Given the description of an element on the screen output the (x, y) to click on. 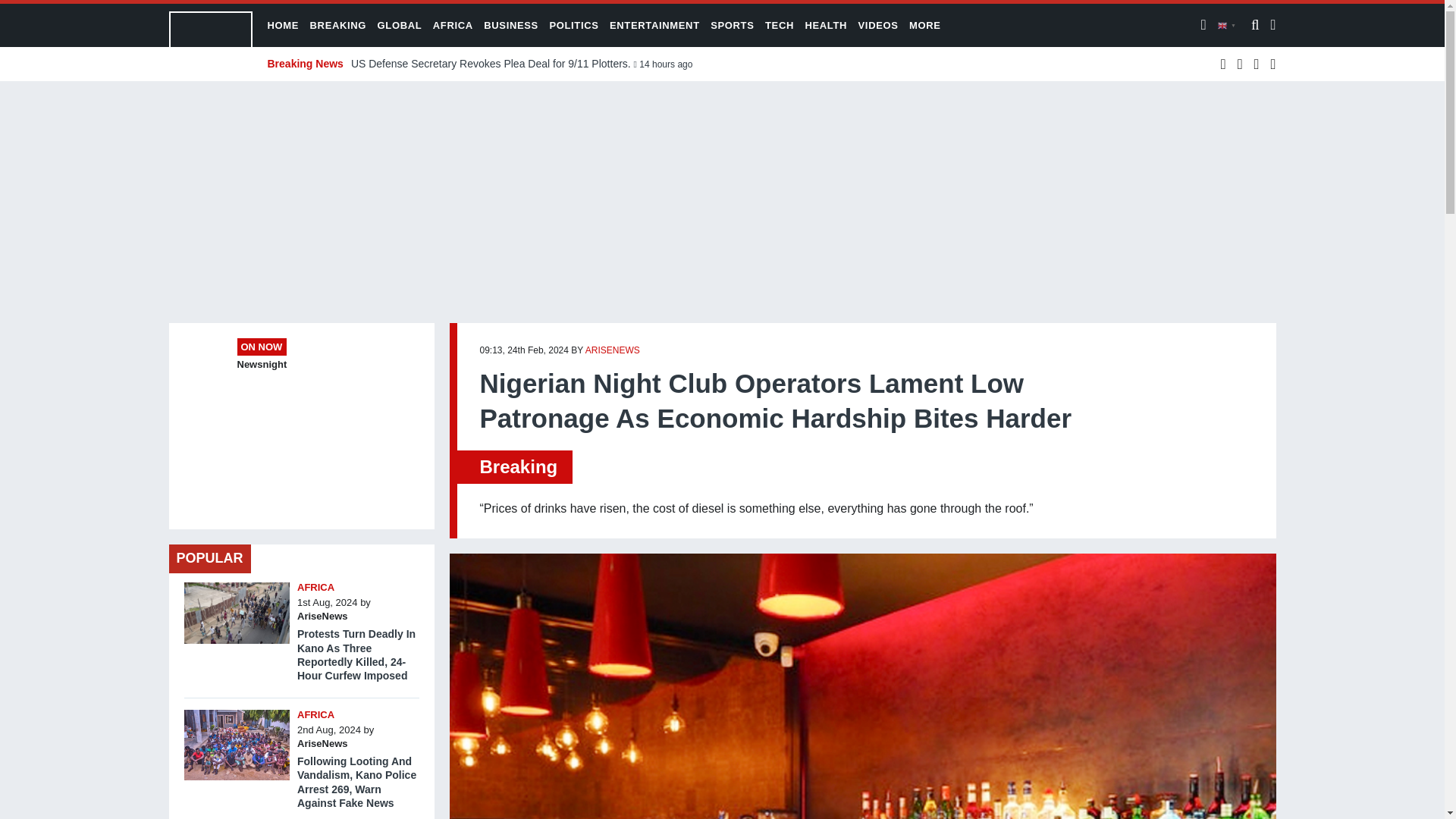
AriseNews (322, 615)
AFRICA (315, 586)
ARISENEWS (612, 349)
Posts by AriseNews (612, 349)
AFRICA (315, 714)
Posts by AriseNews (322, 743)
Posts by AriseNews (322, 615)
